Given the description of an element on the screen output the (x, y) to click on. 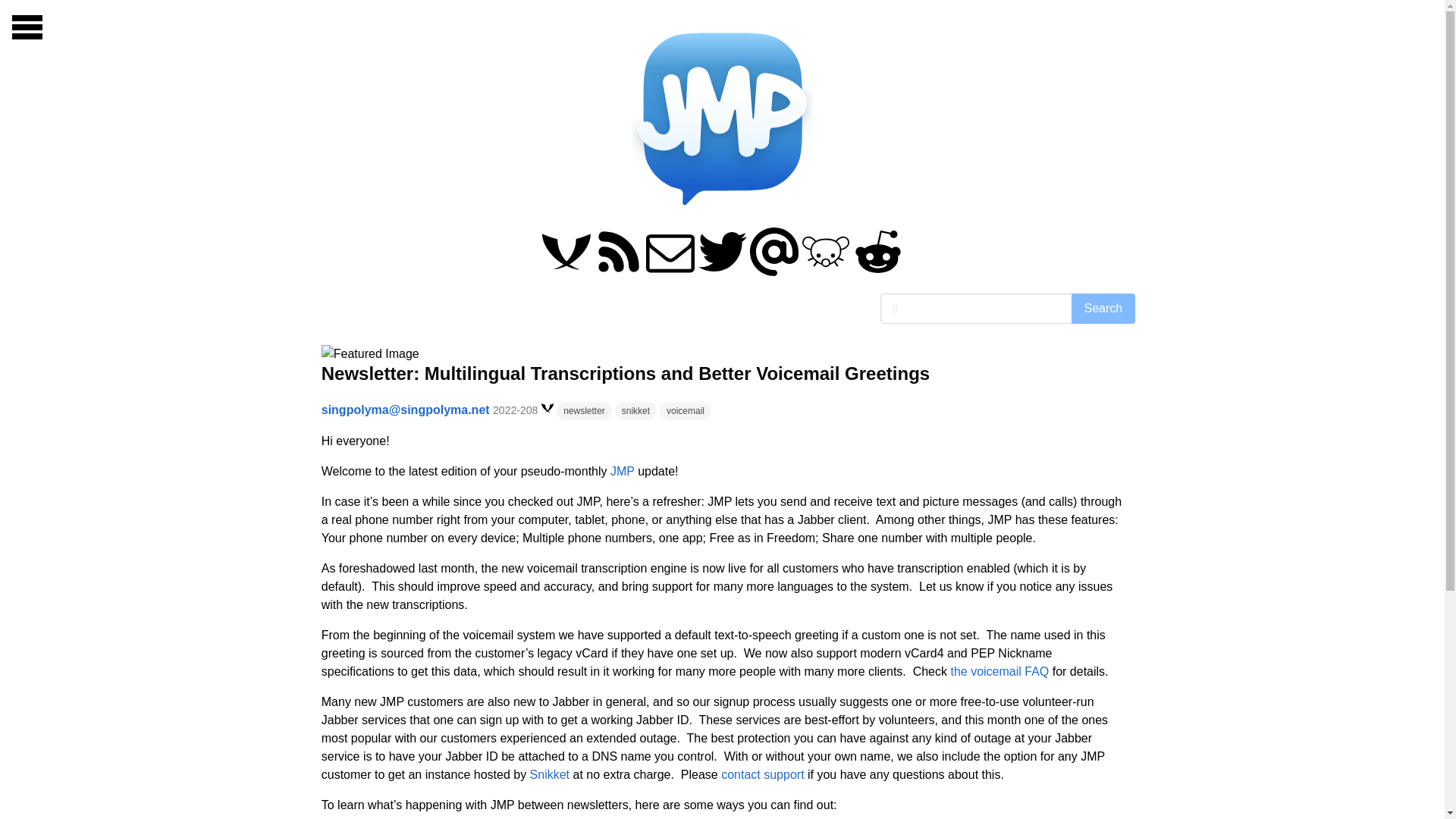
newsletter (583, 410)
snikket (635, 410)
JMP (622, 471)
Snikket (549, 774)
contact support (761, 774)
voicemail (685, 410)
Menu (26, 27)
